Given the description of an element on the screen output the (x, y) to click on. 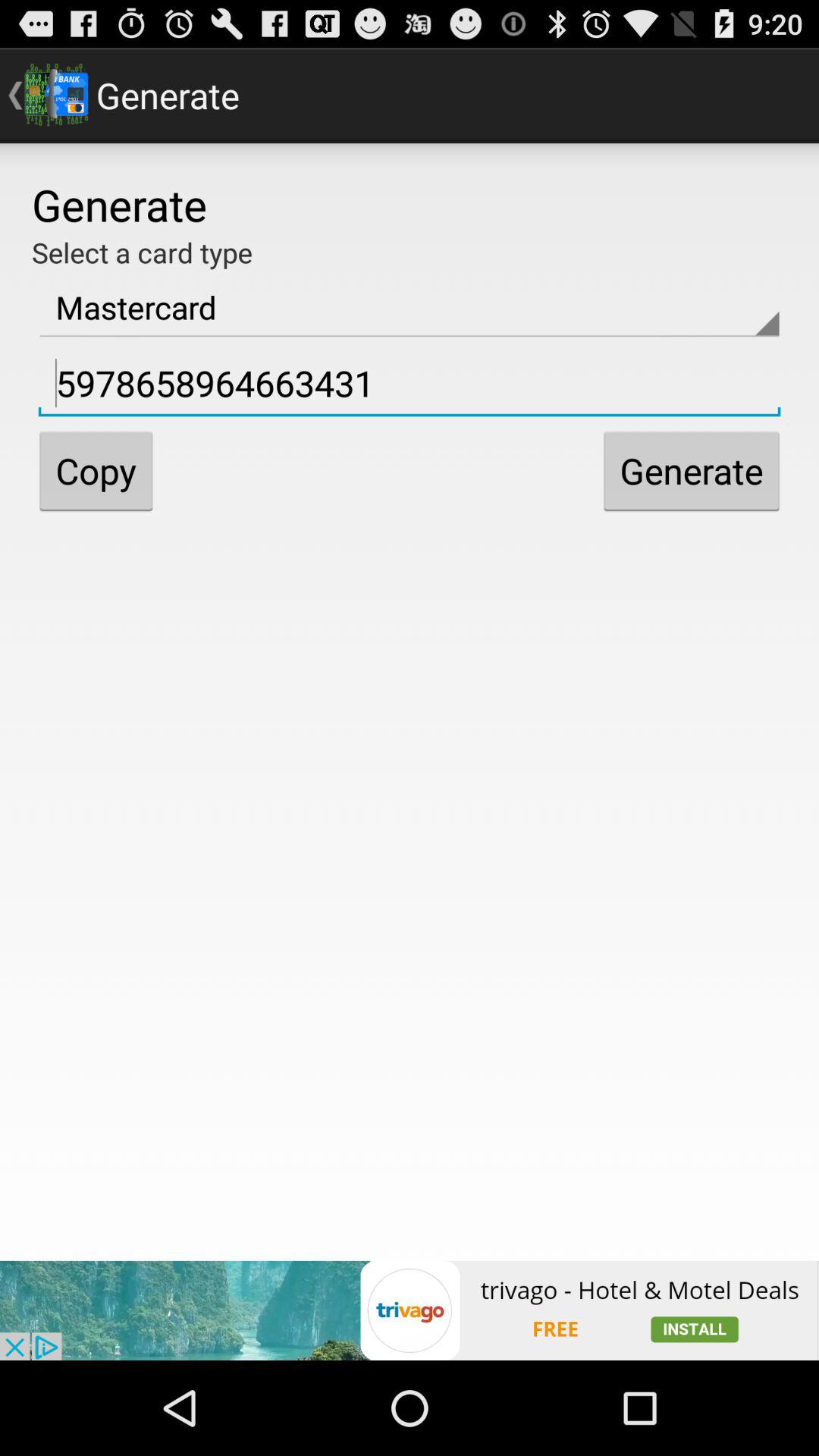
select advertisement (409, 1310)
